Given the description of an element on the screen output the (x, y) to click on. 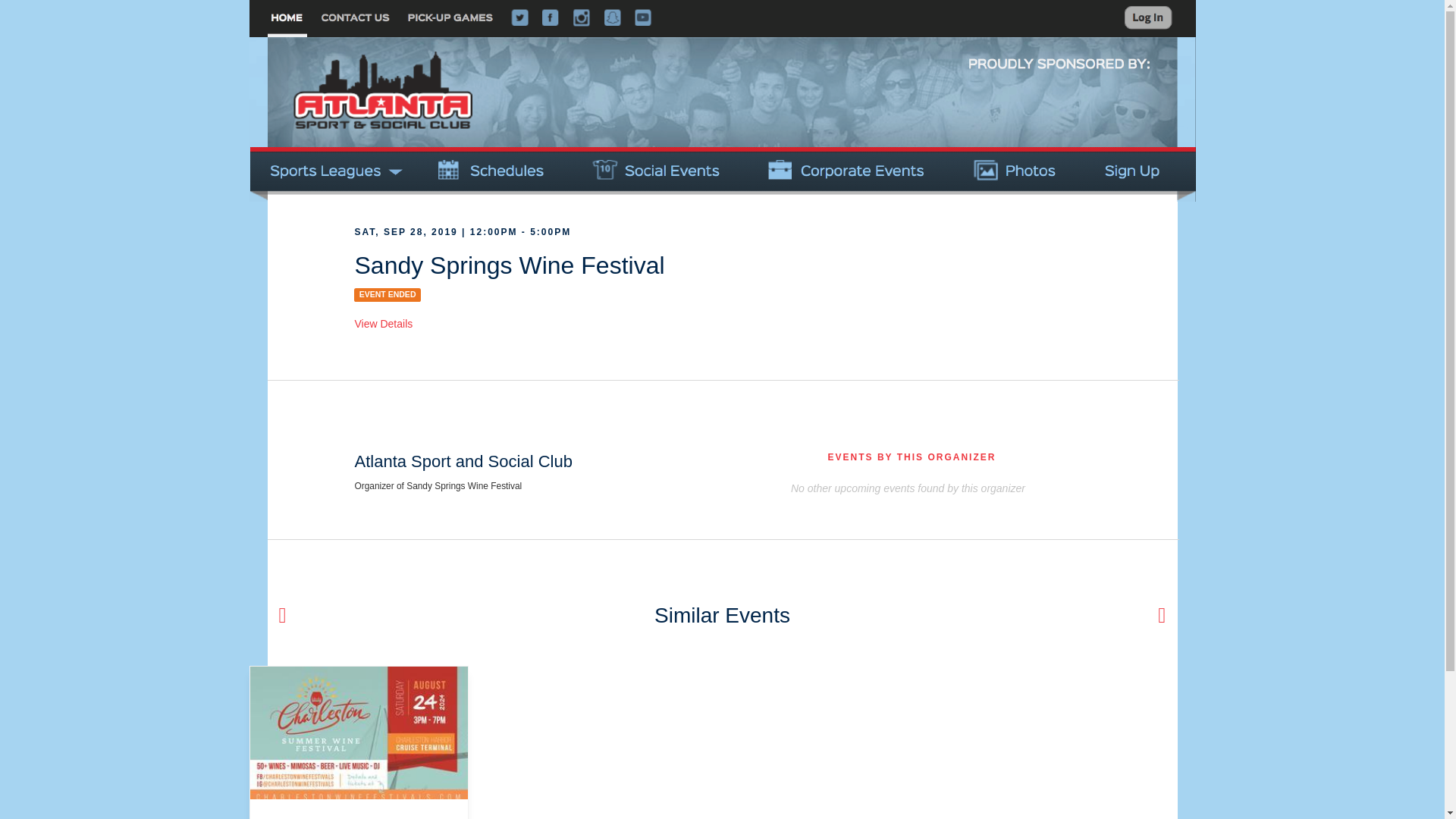
Charleston Summer Wine Festival (359, 809)
Charleston Summer Wine Festival (359, 732)
View Details (382, 323)
